Given the description of an element on the screen output the (x, y) to click on. 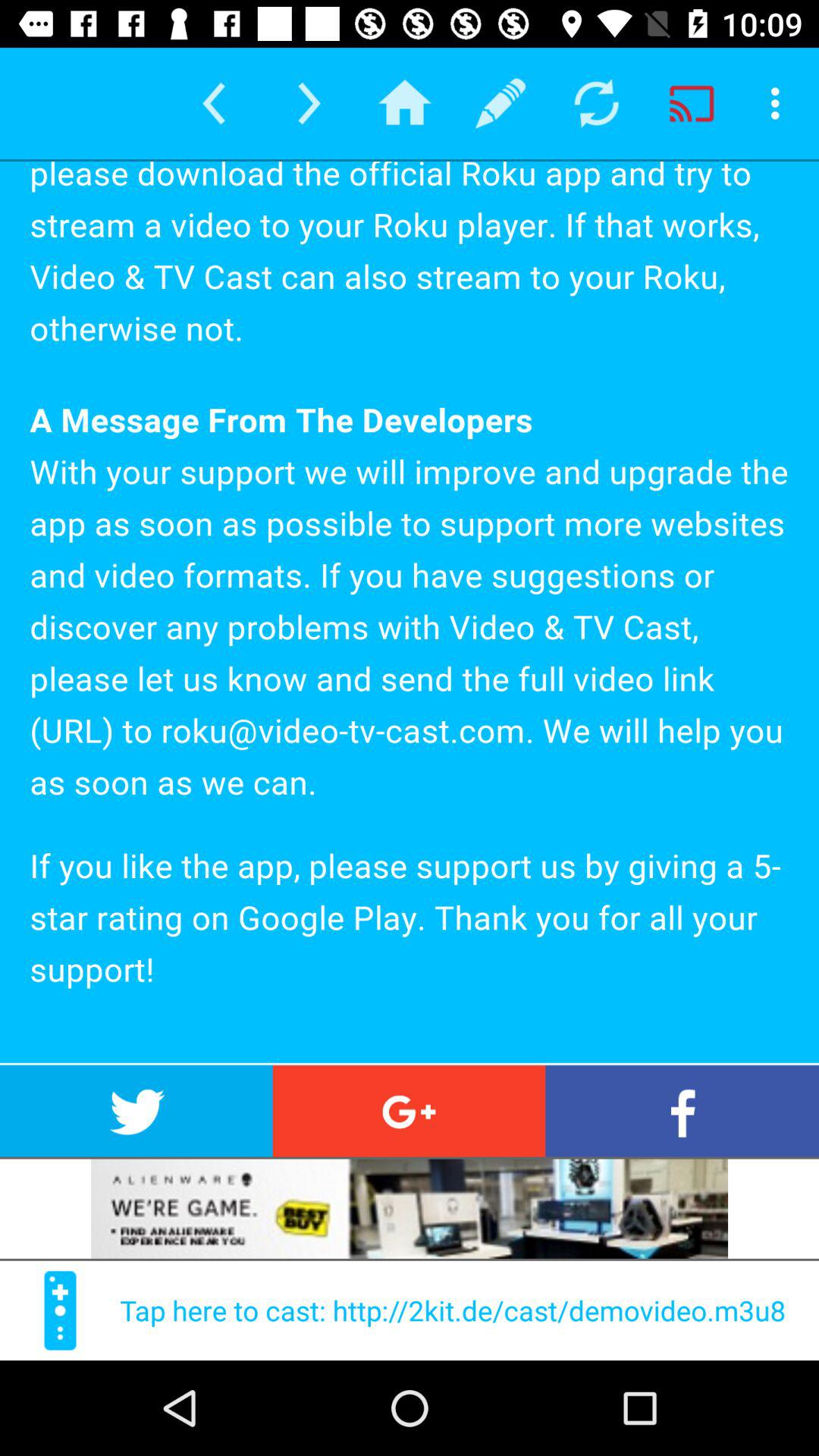
go to advertisement page (409, 1208)
